Given the description of an element on the screen output the (x, y) to click on. 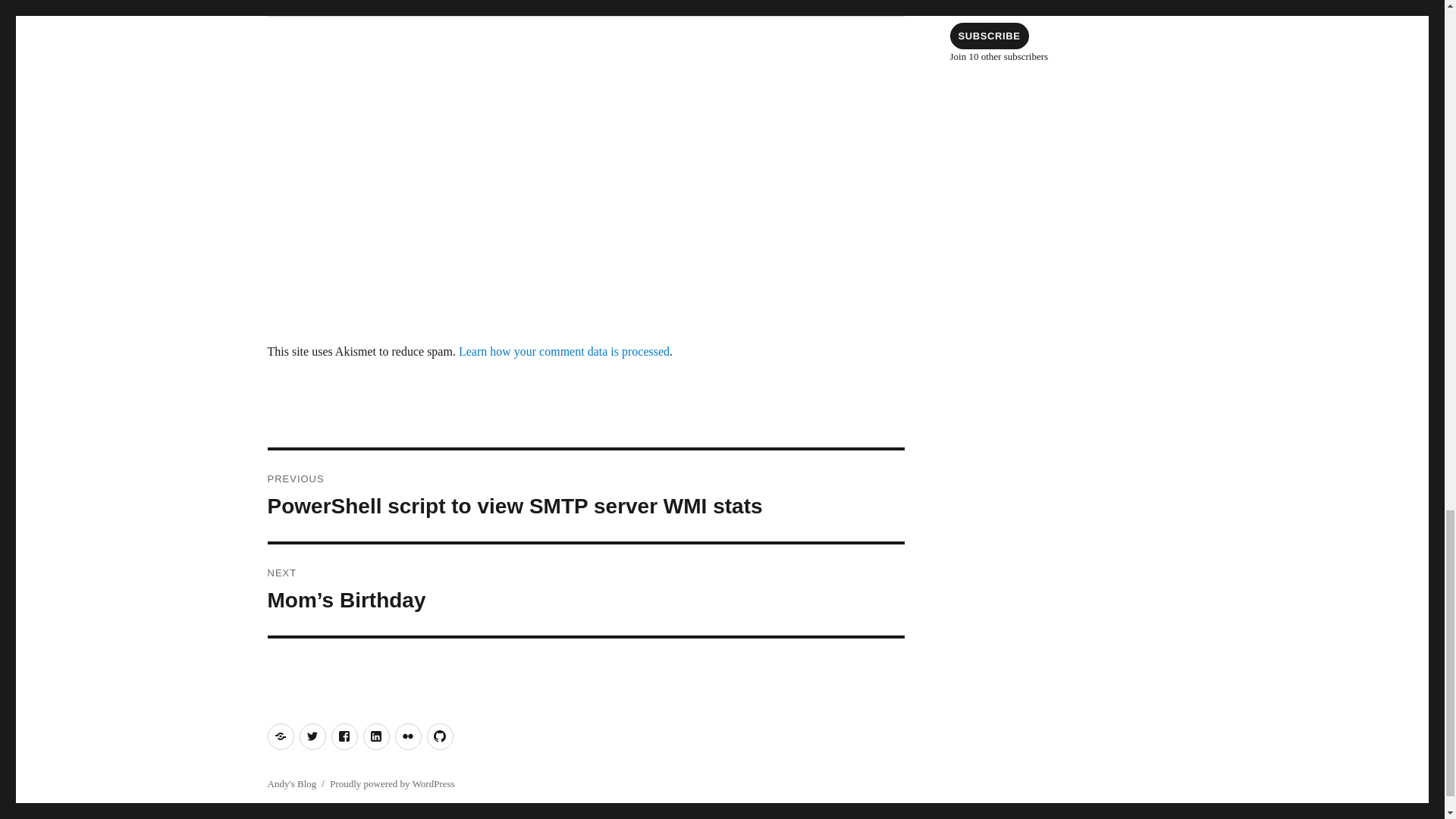
Learn how your comment data is processed (563, 350)
